Given the description of an element on the screen output the (x, y) to click on. 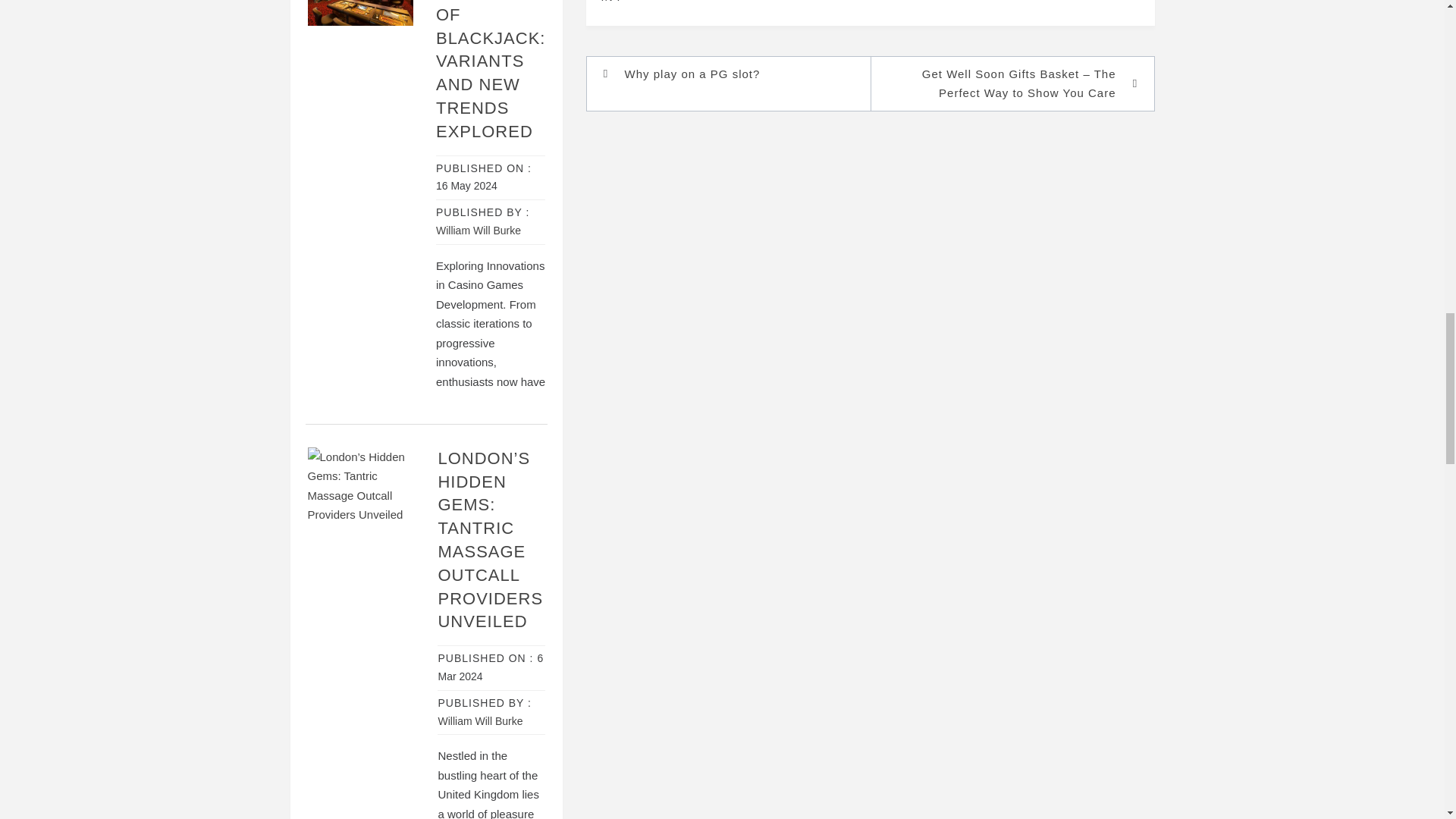
Why play on a PG slot? (735, 74)
THE EVOLUTION OF BLACKJACK: VARIANTS AND NEW TRENDS EXPLORED (490, 70)
William Will Burke (478, 230)
William Will Burke (480, 720)
